Given the description of an element on the screen output the (x, y) to click on. 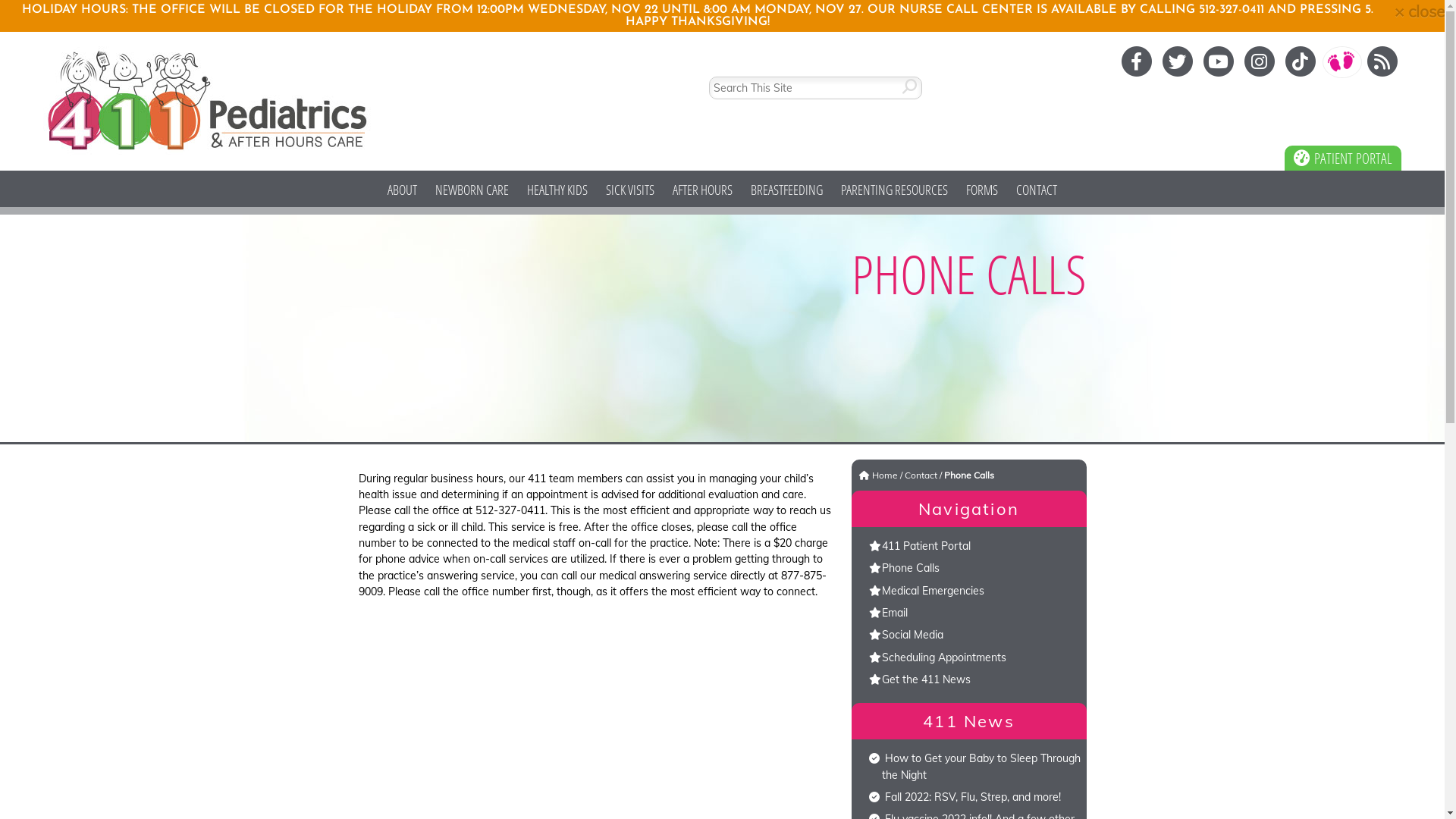
Subscribe to our YouTube Channel Element type: hover (1219, 59)
Home Element type: text (884, 474)
CONTACT Element type: text (1036, 192)
PATIENT PORTAL Element type: text (1342, 157)
How to Get your Baby to Sleep Through the Night Element type: text (980, 766)
BREASTFEEDING Element type: text (786, 192)
Search Element type: text (932, 85)
View Our Blog Element type: hover (1382, 59)
Phone Calls Element type: text (909, 567)
Medical Emergencies Element type: text (932, 590)
Follow Us on TikTok Element type: hover (1301, 59)
Social Media Element type: text (911, 634)
Contact Element type: text (919, 474)
PARENTING RESOURCES Element type: text (894, 192)
SICK VISITS Element type: text (630, 192)
NEWBORN CARE Element type: text (471, 192)
HEALTHY KIDS Element type: text (557, 192)
Follow Us on Instagram Element type: hover (1260, 59)
Get the 411 News Element type: text (925, 679)
411 Pediatrics Element type: hover (208, 99)
Become a Fan on Facebook Element type: hover (1137, 59)
Online Parenting Community & Masterclass Element type: hover (1342, 59)
Fall 2022: RSV, Flu, Strep, and more! Element type: text (972, 796)
Email Element type: text (893, 612)
ABOUT Element type: text (401, 192)
FORMS Element type: text (981, 192)
AFTER HOURS Element type: text (702, 192)
Follow Us on Twitter Element type: hover (1178, 59)
411 Patient Portal Element type: text (925, 545)
Scheduling Appointments Element type: text (943, 657)
